Given the description of an element on the screen output the (x, y) to click on. 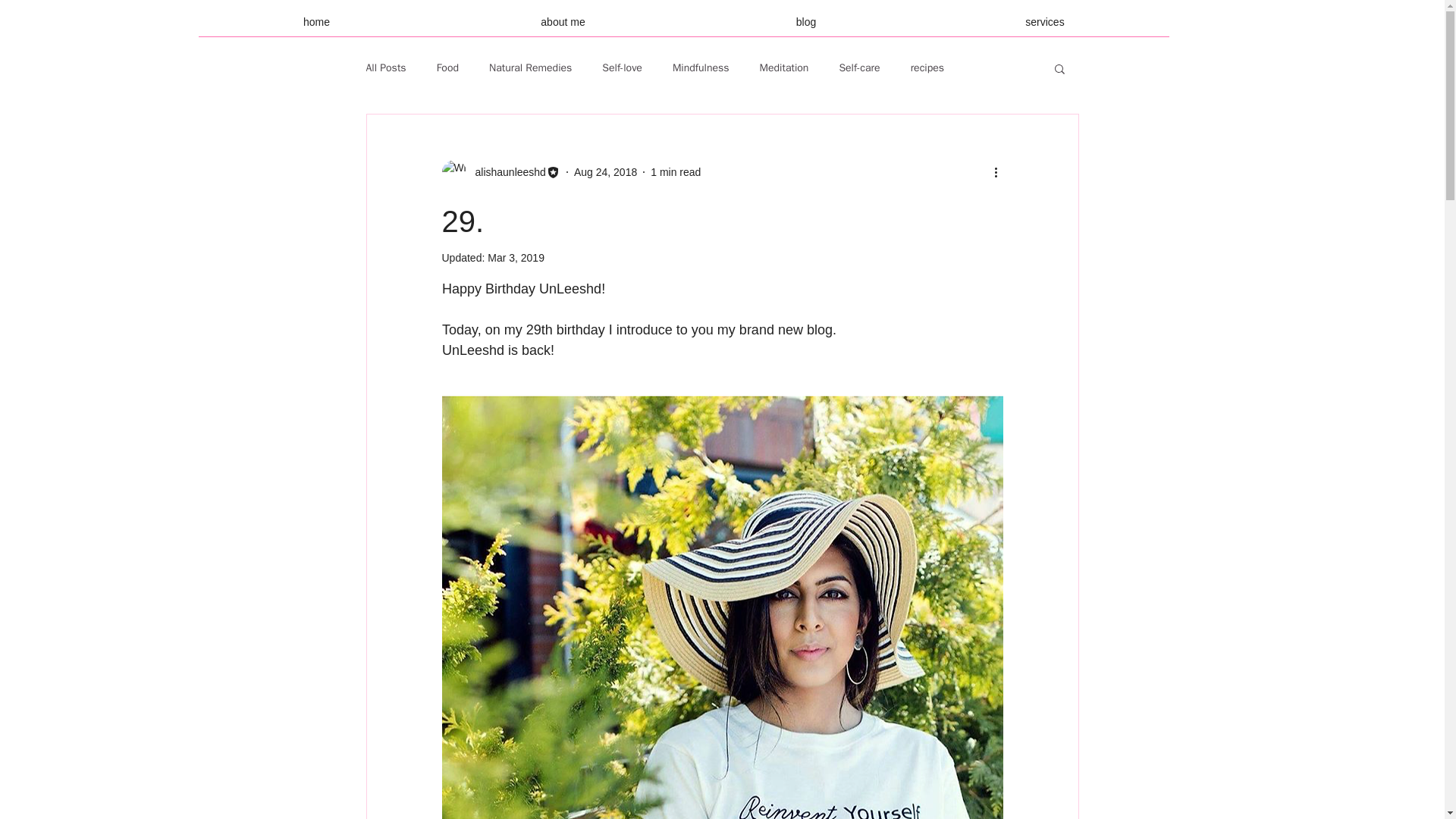
Meditation (784, 68)
Food (447, 68)
alishaunleeshd (500, 171)
Self-care (858, 68)
1 min read (675, 171)
Mindfulness (700, 68)
alishaunleeshd (504, 171)
Self-love (622, 68)
All Posts (385, 68)
blog (806, 26)
Aug 24, 2018 (605, 171)
home (316, 26)
Mar 3, 2019 (515, 257)
recipes (927, 68)
services (1044, 26)
